Given the description of an element on the screen output the (x, y) to click on. 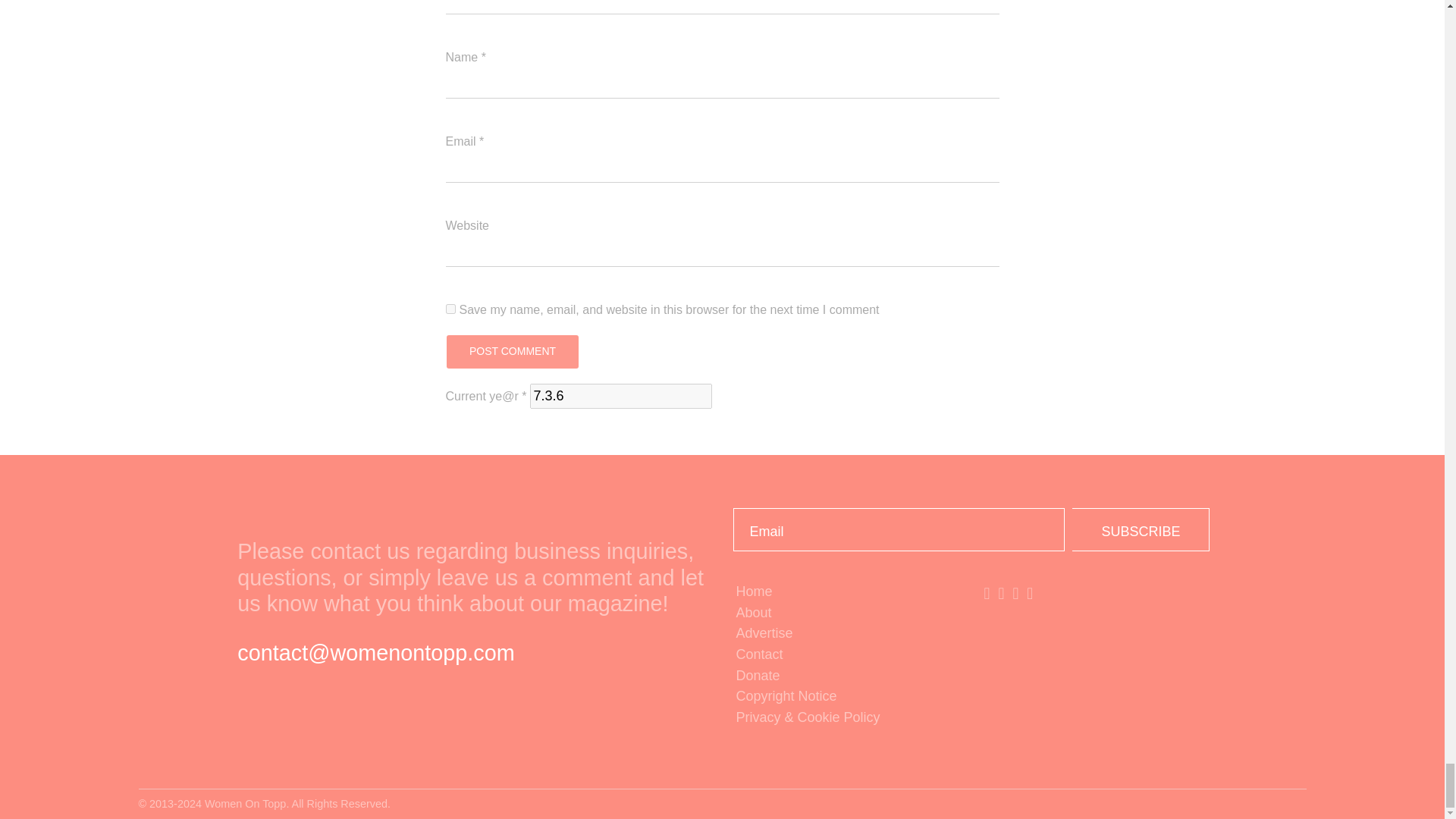
Home (845, 591)
yes (450, 308)
About (845, 613)
Contact (845, 654)
Post Comment (511, 351)
Donate (845, 676)
Advertise (845, 633)
Subscribe (1140, 529)
Copyright Notice (845, 696)
7.3.6 (620, 396)
